Given the description of an element on the screen output the (x, y) to click on. 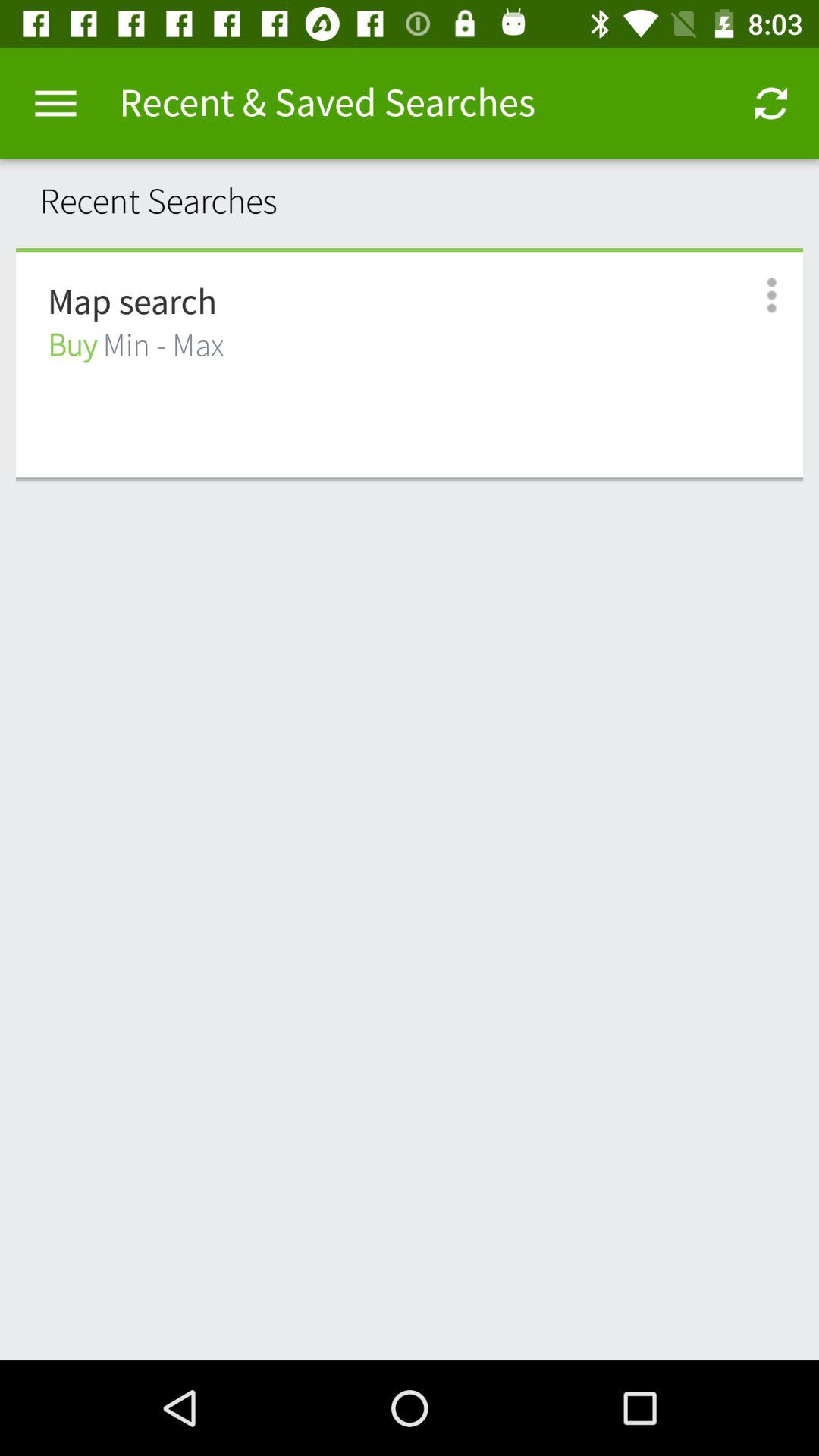
press the item next to buy min - max icon (755, 295)
